Given the description of an element on the screen output the (x, y) to click on. 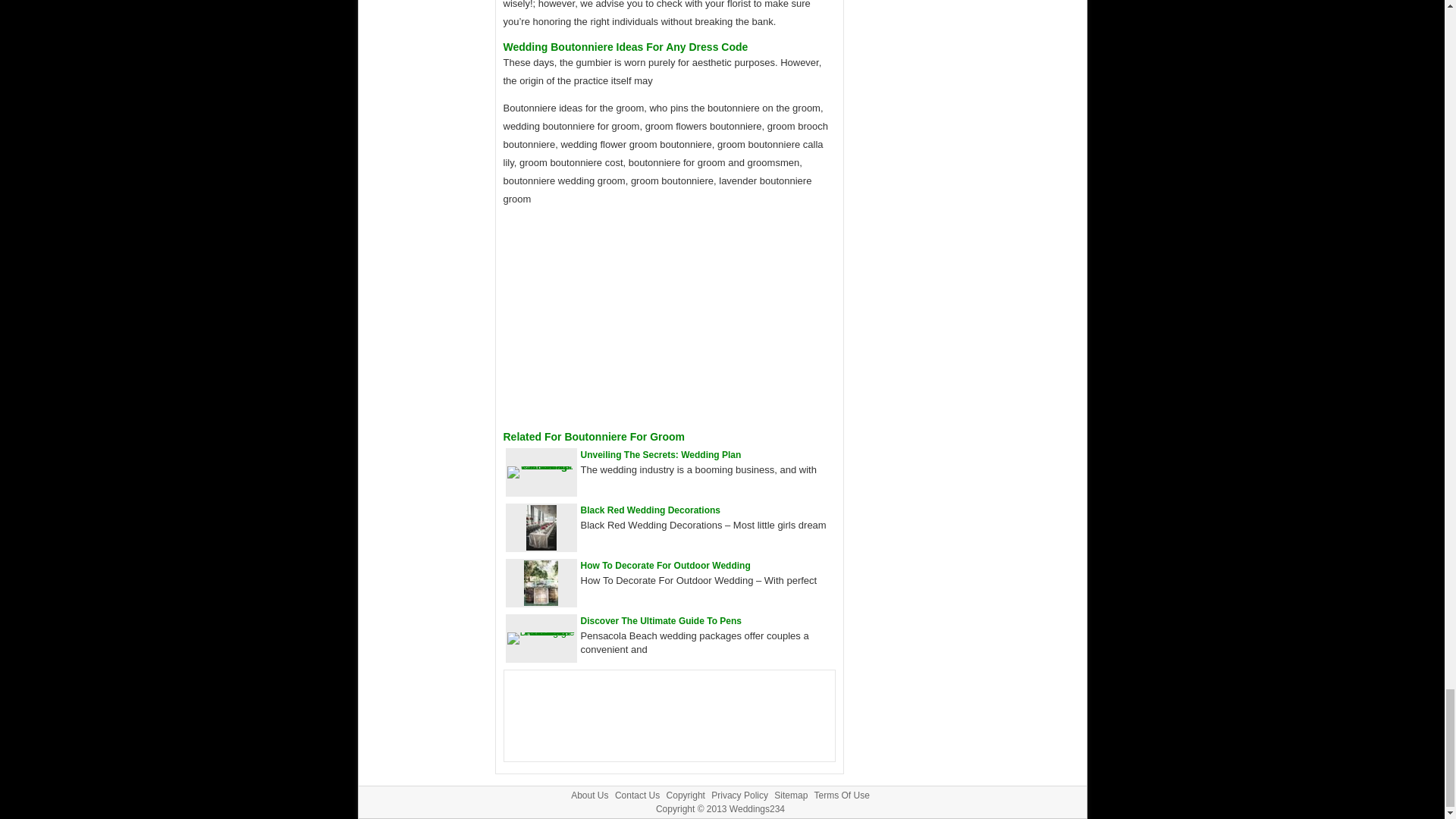
How To Decorate For Outdoor Wedding (665, 565)
How To Decorate For Outdoor Wedding (665, 565)
Black Red Wedding Decorations (650, 510)
Discover The Ultimate Guide To Pens (661, 620)
How To Decorate For Outdoor Wedding (540, 602)
Unveiling The Secrets: Wedding Plan (660, 454)
Black Red Wedding Decorations (540, 546)
